Given the description of an element on the screen output the (x, y) to click on. 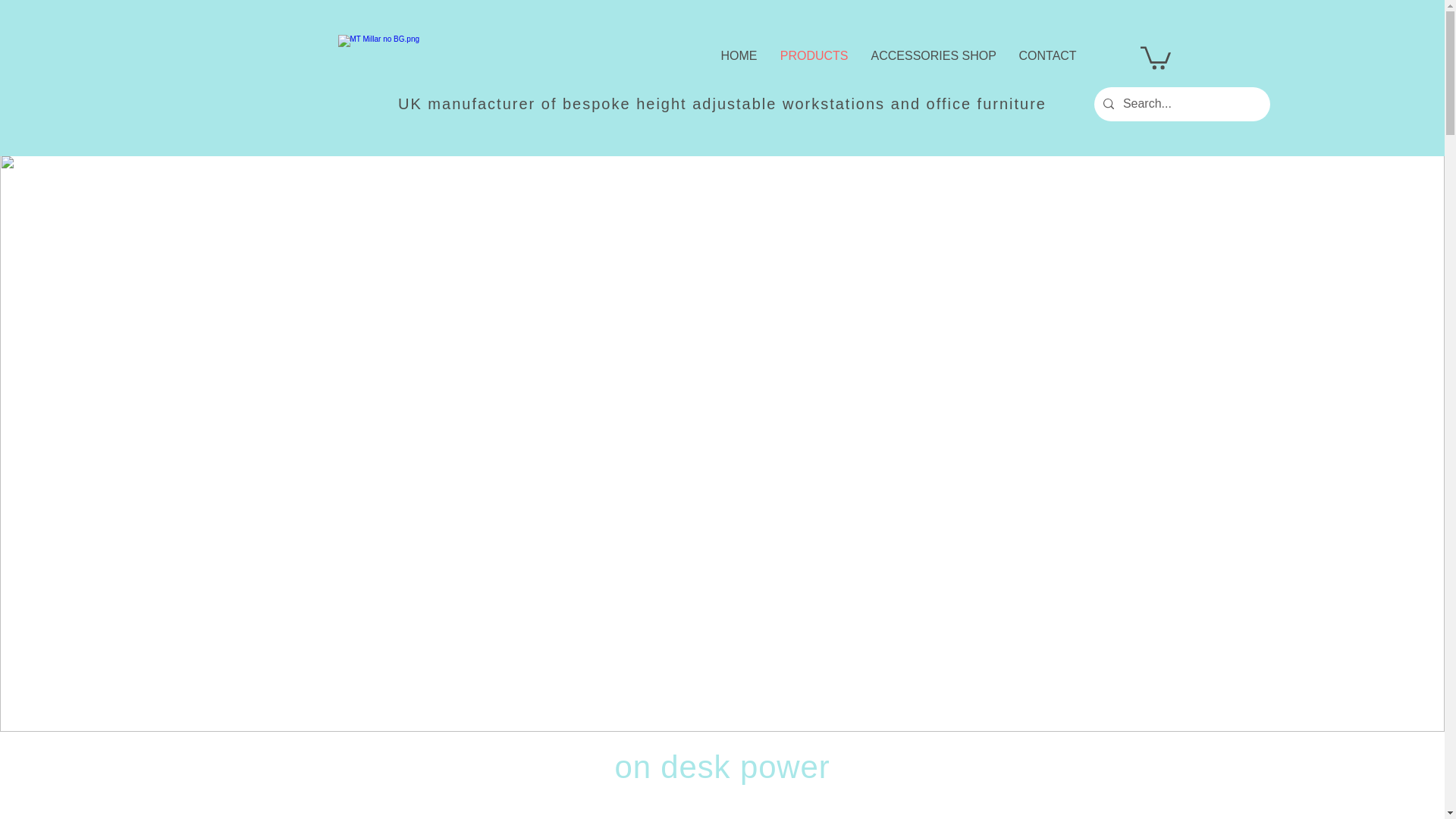
ACCESSORIES SHOP (933, 55)
HOME (739, 55)
CONTACT (1047, 55)
PRODUCTS (814, 55)
